Given the description of an element on the screen output the (x, y) to click on. 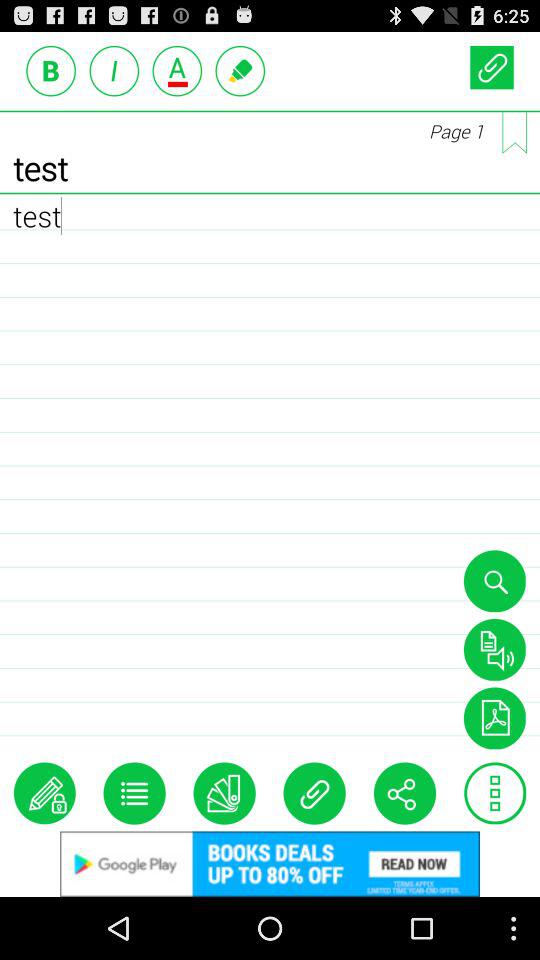
filter (494, 718)
